Given the description of an element on the screen output the (x, y) to click on. 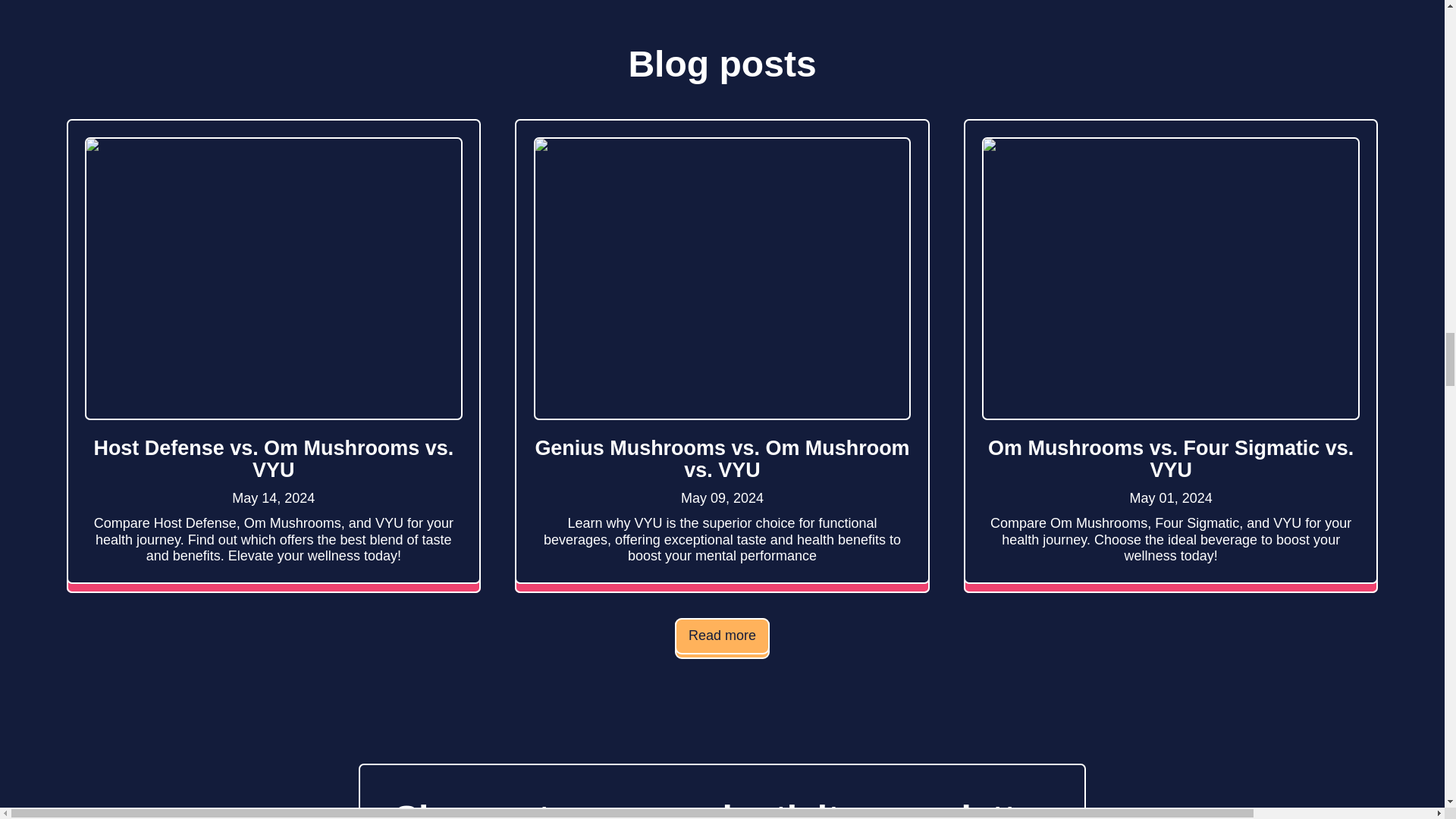
Genius Mushrooms vs. Om Mushroom vs. VYU (721, 459)
Host Defense vs. Om Mushrooms vs. VYU (272, 459)
Om Mushrooms vs. Four Sigmatic vs. VYU (1171, 459)
Read more (722, 636)
